Given the description of an element on the screen output the (x, y) to click on. 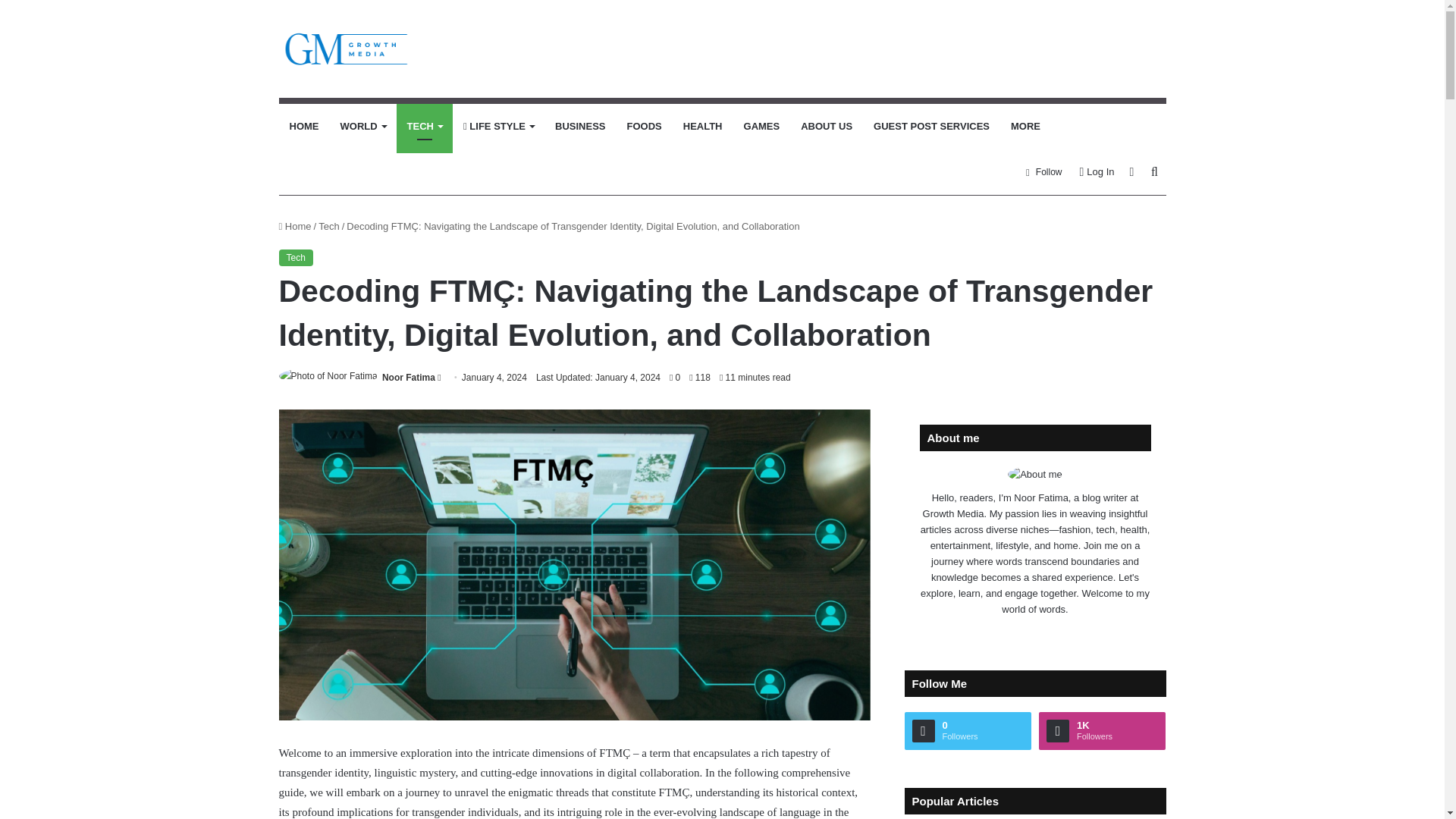
Follow (1043, 171)
Tech (328, 225)
HEALTH (702, 126)
WORLD (362, 126)
Noor Fatima (408, 377)
MORE (1025, 126)
GAMES (761, 126)
GUEST POST SERVICES (931, 126)
HOME (304, 126)
Tech (296, 257)
Noor Fatima (408, 377)
Home (295, 225)
BUSINESS (579, 126)
LIFE STYLE (498, 126)
Growth Media (347, 48)
